Given the description of an element on the screen output the (x, y) to click on. 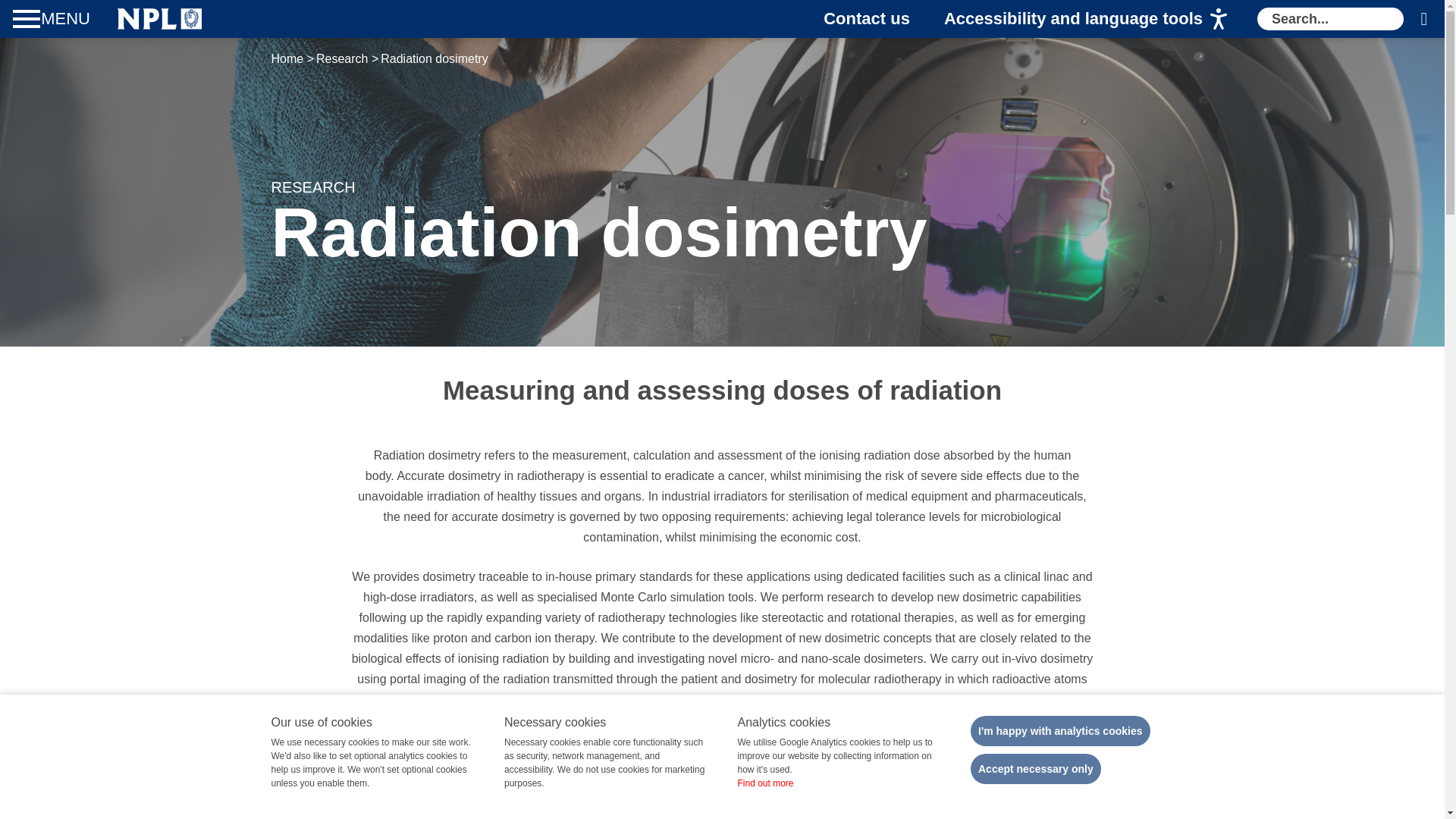
Menu (53, 18)
Accept necessary only (1035, 768)
Launch Recite Me assistive technology (1085, 18)
Contact us (867, 18)
Menu (53, 18)
Home (159, 18)
Home (159, 18)
Accessibility and language tools (1085, 18)
I'm happy with analytics cookies (1060, 730)
